Given the description of an element on the screen output the (x, y) to click on. 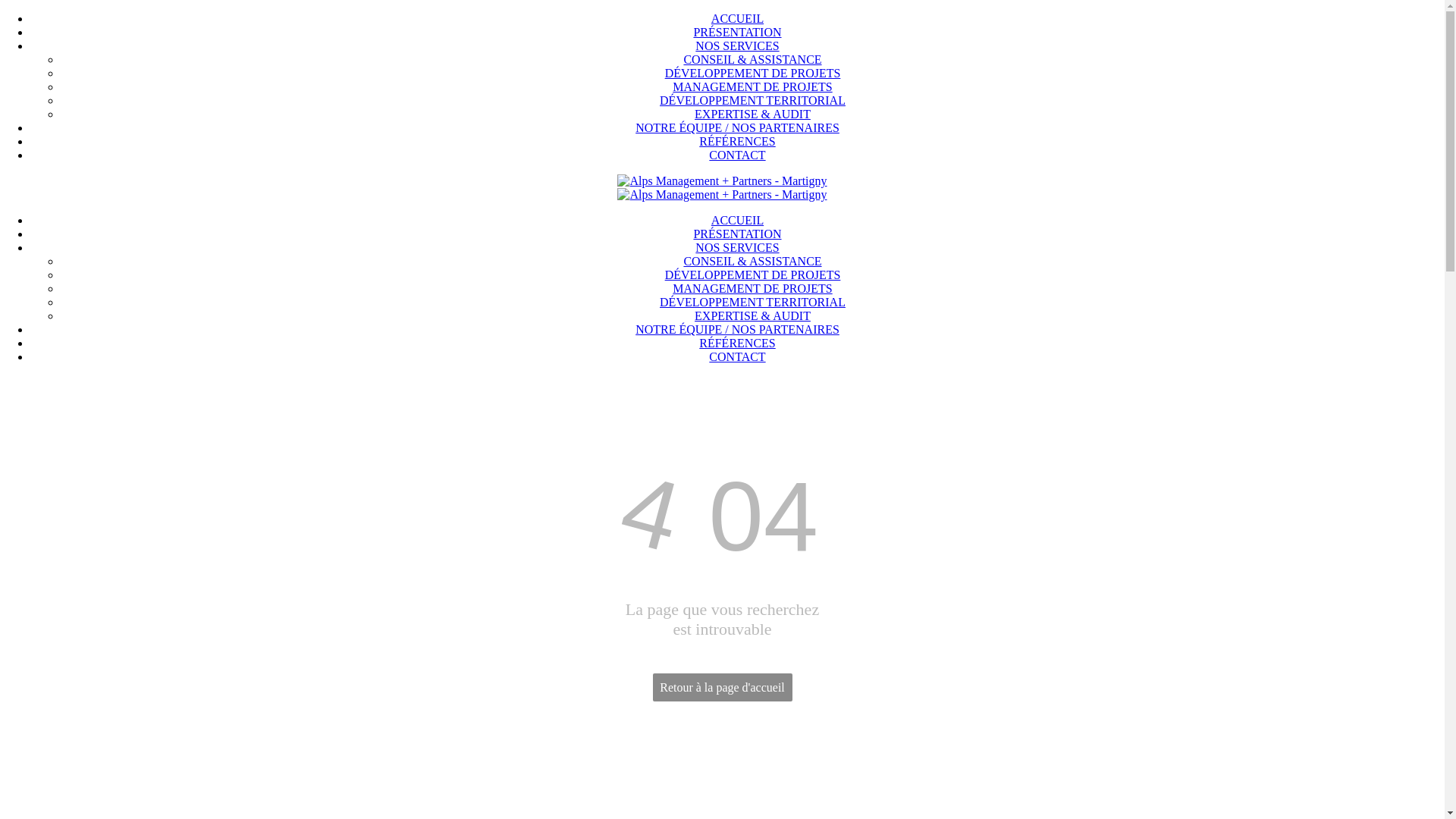
NOS SERVICES Element type: text (736, 45)
ACCUEIL Element type: text (737, 219)
EXPERTISE & AUDIT Element type: text (752, 315)
CONSEIL & ASSISTANCE Element type: text (752, 59)
MANAGEMENT DE PROJETS Element type: text (751, 86)
ACCUEIL Element type: text (737, 18)
CONTACT Element type: text (737, 356)
MANAGEMENT DE PROJETS Element type: text (751, 288)
CONSEIL & ASSISTANCE Element type: text (752, 260)
CONTACT Element type: text (737, 154)
EXPERTISE & AUDIT Element type: text (752, 113)
NOS SERVICES Element type: text (736, 247)
